Given the description of an element on the screen output the (x, y) to click on. 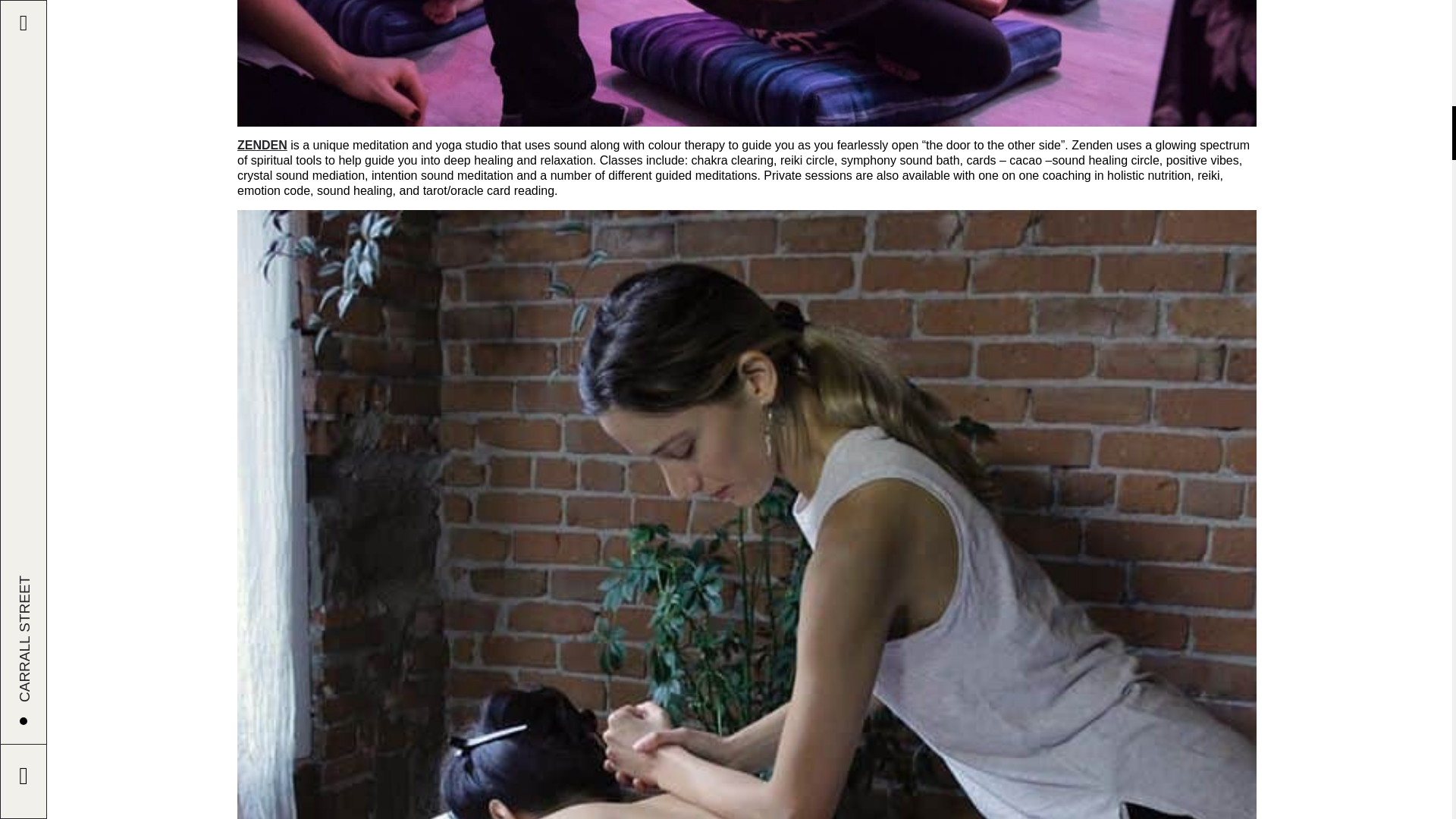
ZENDEN (261, 144)
